Given the description of an element on the screen output the (x, y) to click on. 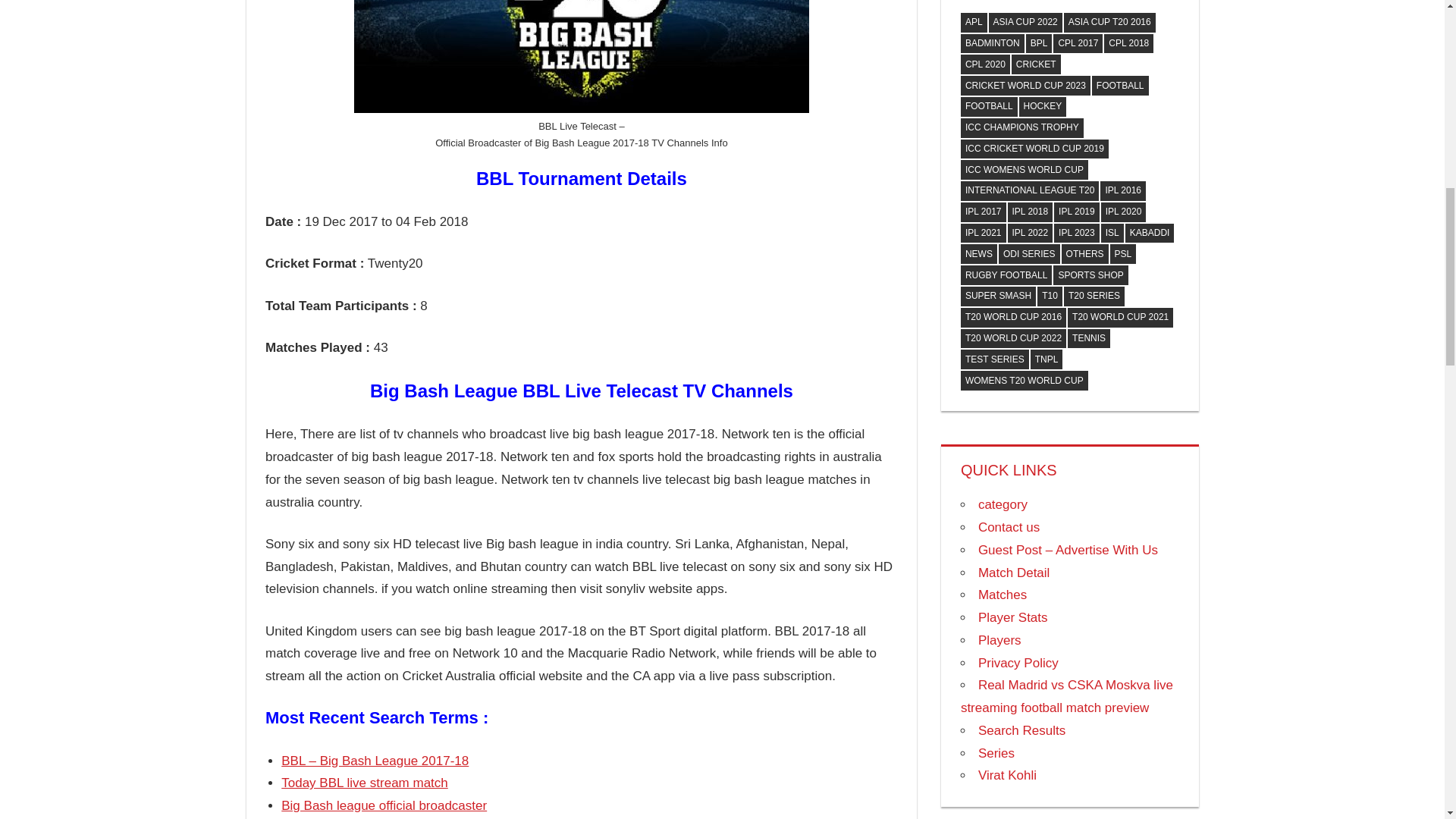
Today BBL live stream match (364, 782)
Big Bash league official broadcaster (383, 805)
